Given the description of an element on the screen output the (x, y) to click on. 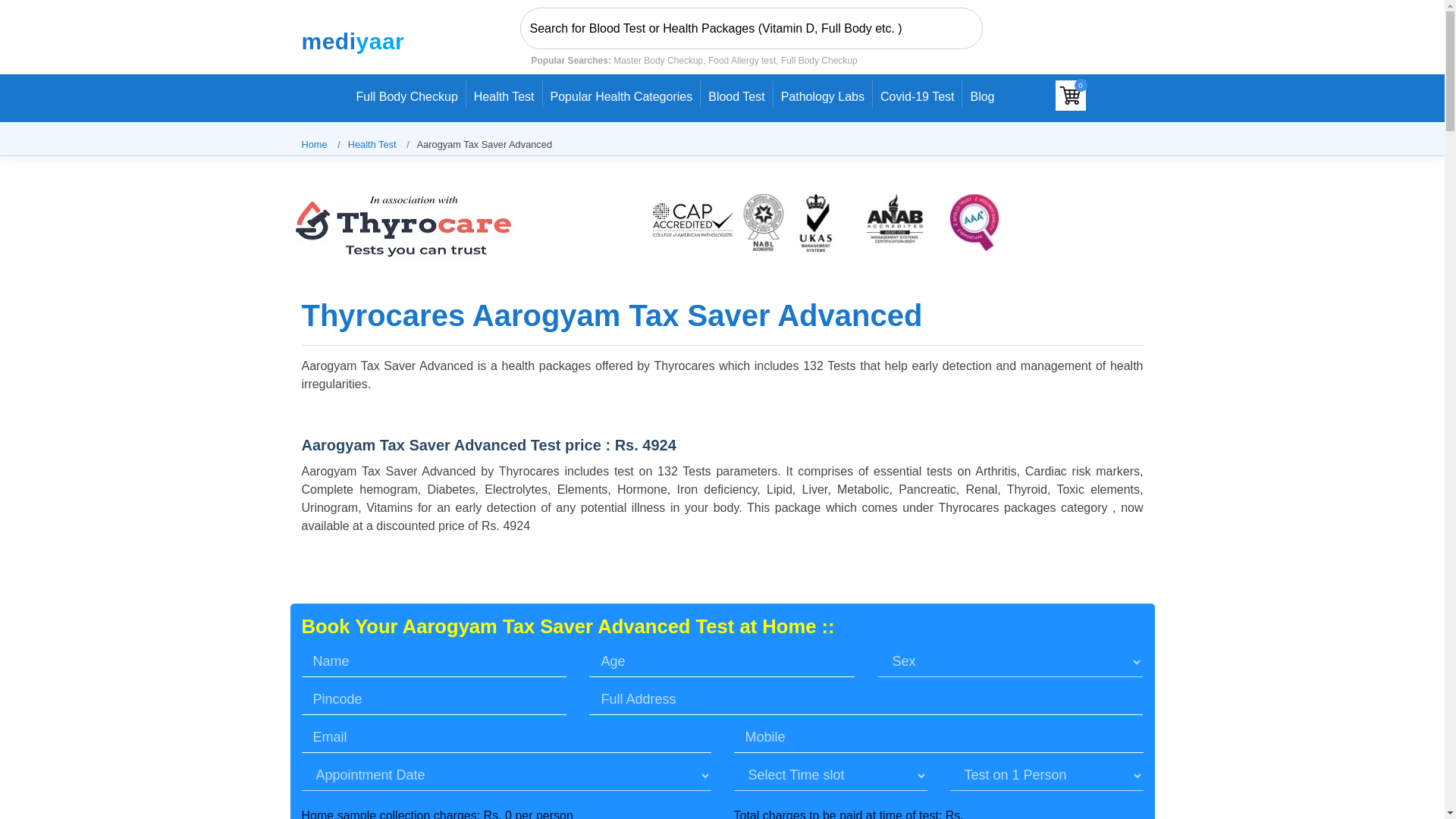
Pathology Labs (822, 93)
Blog (981, 98)
Health Test (371, 143)
0 (1070, 95)
Home (314, 143)
Health Test (504, 93)
Popular Health Categories (622, 93)
mediyaar (355, 42)
Full Body Checkup (406, 93)
Covid-19 Test (917, 93)
Blood Test (736, 93)
